Given the description of an element on the screen output the (x, y) to click on. 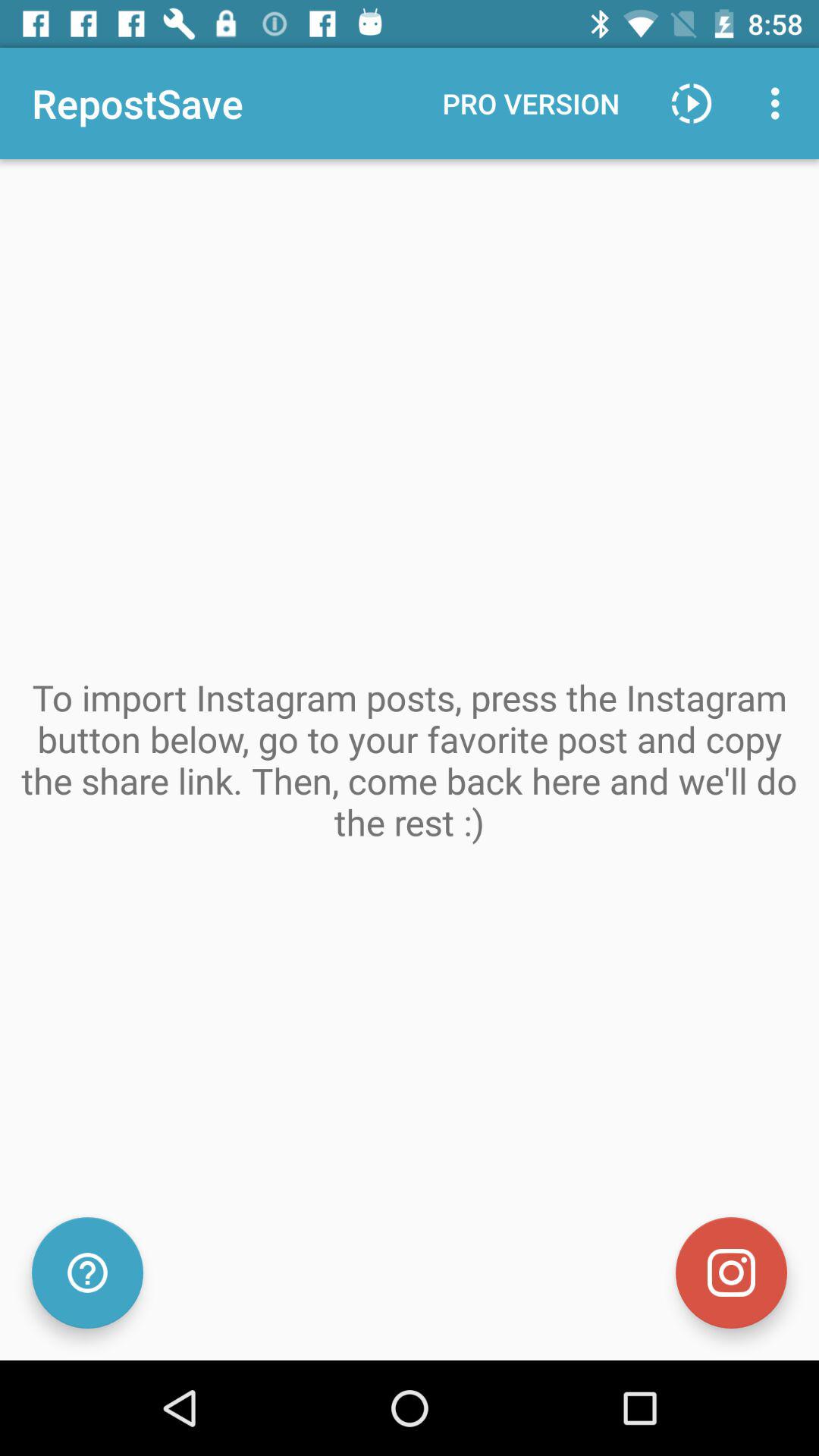
click icon above the to import instagram item (530, 103)
